Given the description of an element on the screen output the (x, y) to click on. 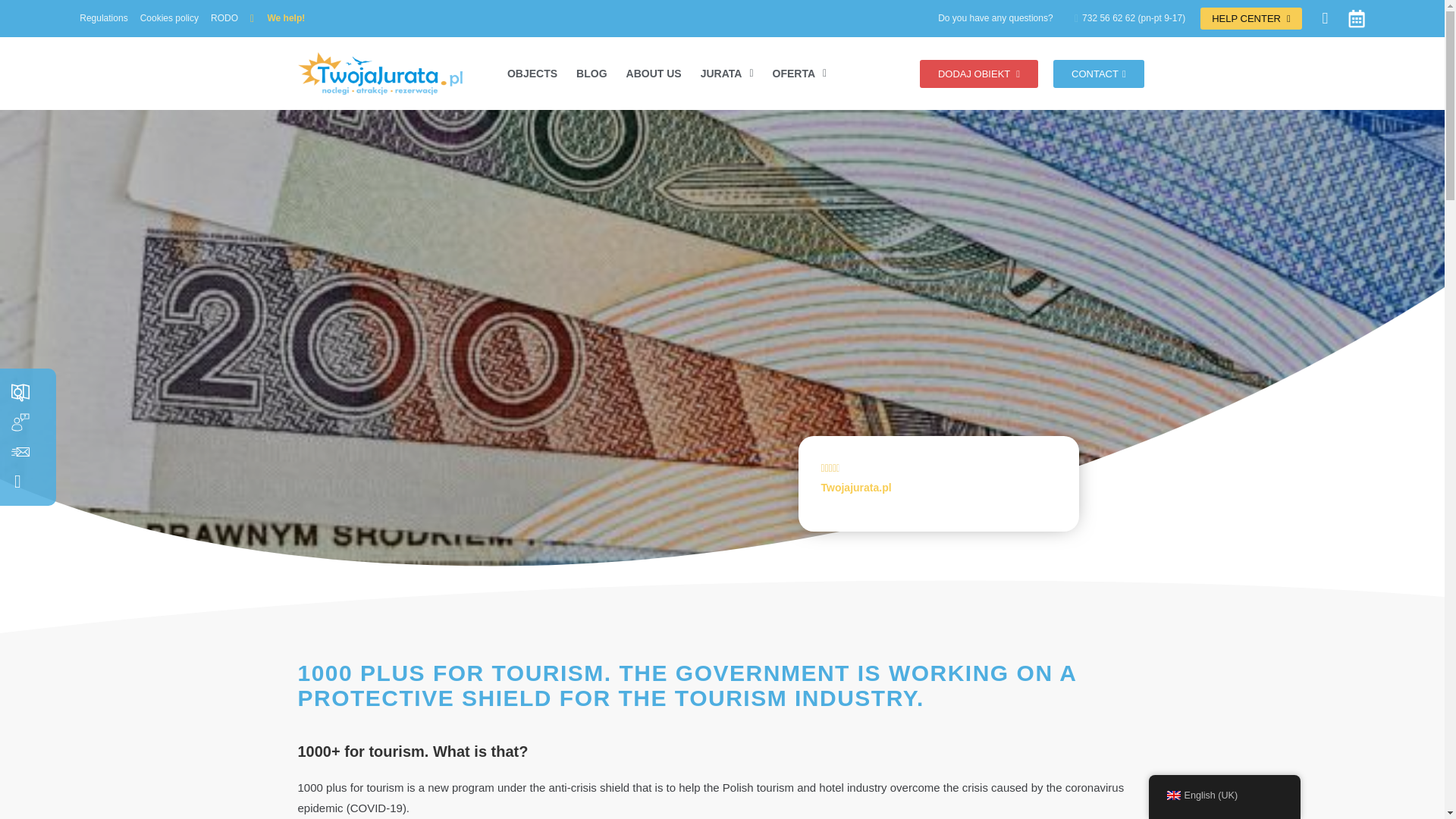
Cookies policy (168, 18)
OBJECTS (531, 73)
DODAJ OBIEKT (979, 73)
Regulations (104, 18)
RODO (224, 18)
HELP CENTER (1250, 18)
We help! (277, 18)
OFERTA (800, 73)
BLOG (591, 73)
ABOUT US (653, 73)
CONTACT (1098, 73)
JURATA (727, 73)
Do you have any questions? (994, 18)
